Given the description of an element on the screen output the (x, y) to click on. 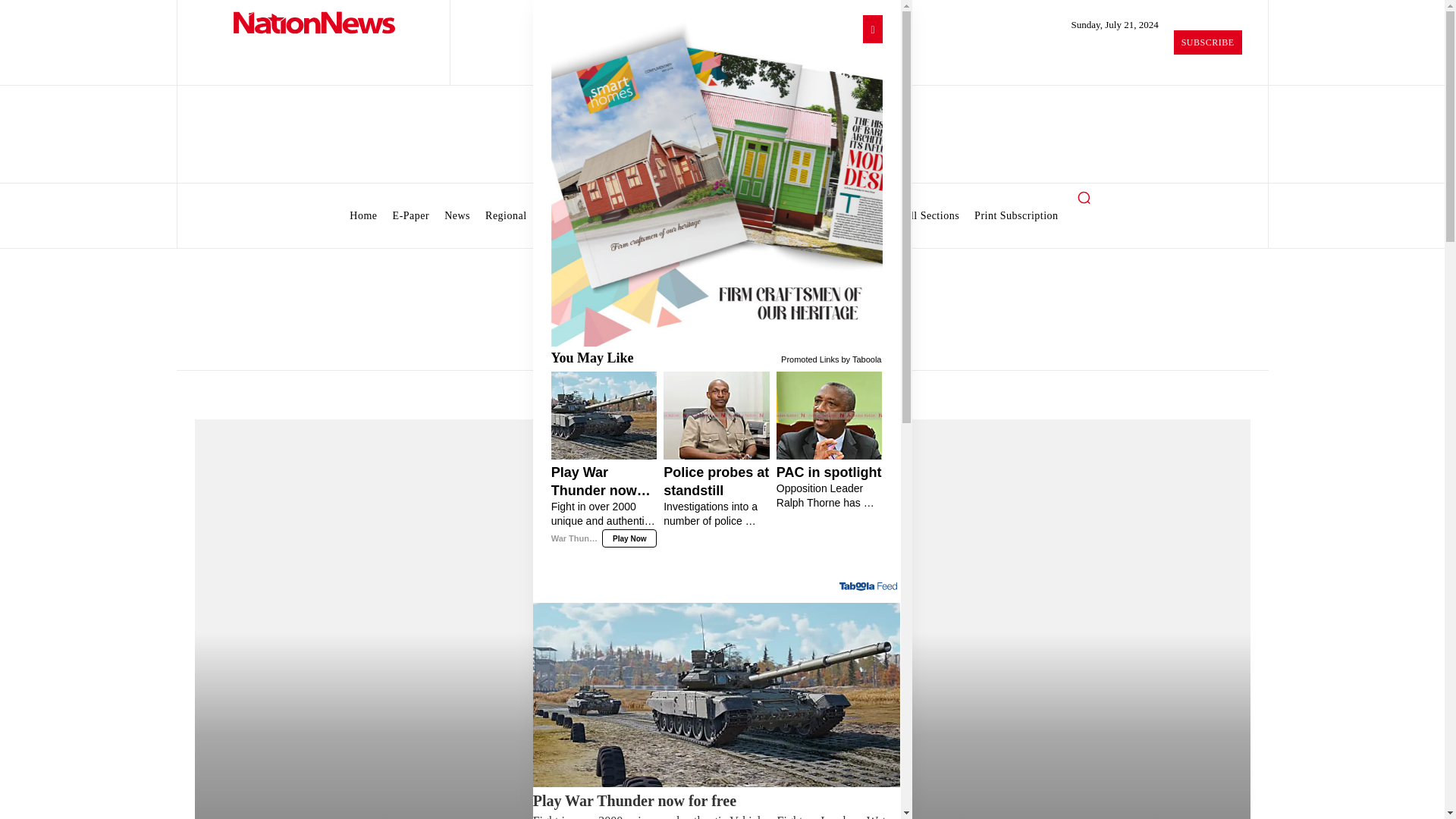
PAC in spotlight (829, 486)
by Taboola (860, 357)
Play Now (629, 538)
Play War Thunder now for free (716, 805)
Play War Thunder now for free (604, 505)
Smart Homes Pop Up (716, 180)
Promoted Links (809, 357)
Police probes at standstill (716, 495)
